Given the description of an element on the screen output the (x, y) to click on. 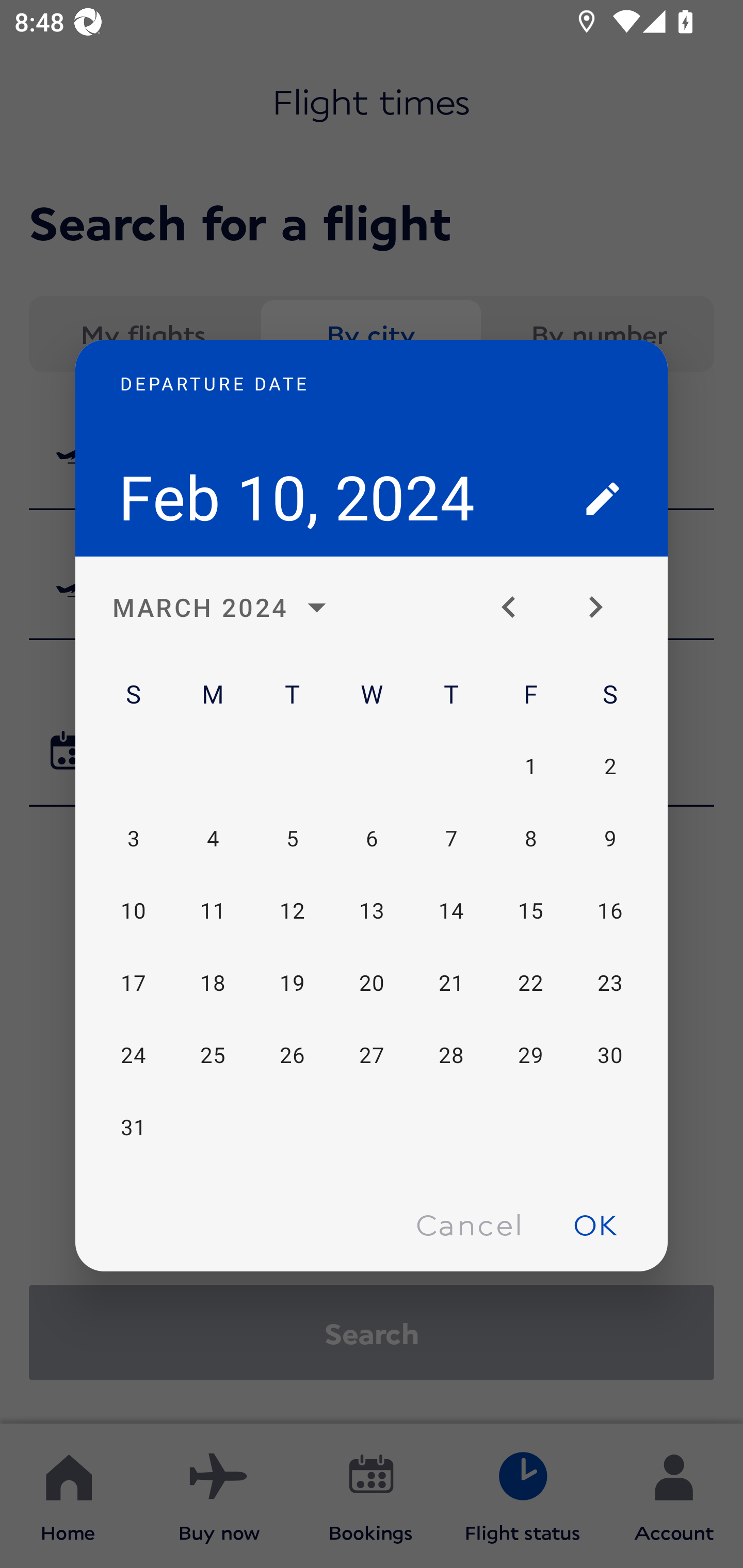
Switch to text input mode (602, 498)
MARCH 2024 (224, 607)
Change to previous month (515, 607)
Change to next month (602, 607)
1 Fri, Mar 1 (530, 765)
2 Sat, Mar 2 (609, 765)
3 Sun, Mar 3 (133, 838)
4 Mon, Mar 4 (212, 838)
5 Tue, Mar 5 (291, 838)
6 Wed, Mar 6 (371, 838)
7 Thu, Mar 7 (450, 838)
8 Fri, Mar 8 (530, 838)
9 Sat, Mar 9 (609, 838)
10 Sun, Mar 10 (133, 910)
11 Mon, Mar 11 (212, 910)
12 Tue, Mar 12 (291, 910)
13 Wed, Mar 13 (371, 910)
14 Thu, Mar 14 (450, 910)
15 Fri, Mar 15 (530, 910)
16 Sat, Mar 16 (609, 910)
17 Sun, Mar 17 (133, 983)
18 Mon, Mar 18 (212, 983)
19 Tue, Mar 19 (291, 983)
20 Wed, Mar 20 (371, 983)
21 Thu, Mar 21 (450, 983)
22 Fri, Mar 22 (530, 983)
23 Sat, Mar 23 (609, 983)
24 Sun, Mar 24 (133, 1055)
25 Mon, Mar 25 (212, 1055)
26 Tue, Mar 26 (291, 1055)
27 Wed, Mar 27 (371, 1055)
28 Thu, Mar 28 (450, 1055)
29 Fri, Mar 29 (530, 1055)
30 Sat, Mar 30 (609, 1055)
31 Sun, Mar 31 (133, 1127)
Cancel (468, 1224)
OK null, OK (595, 1224)
